Given the description of an element on the screen output the (x, y) to click on. 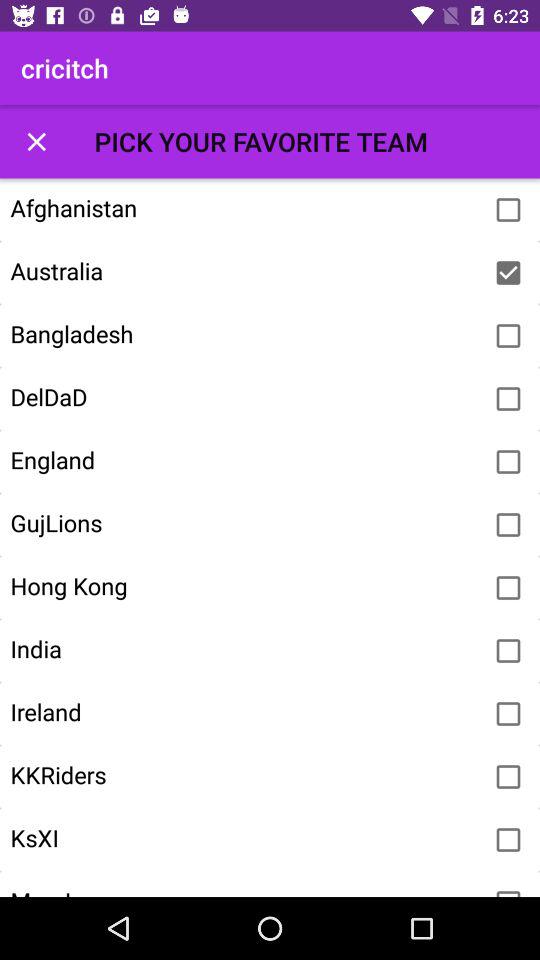
close filtering options (36, 141)
